Given the description of an element on the screen output the (x, y) to click on. 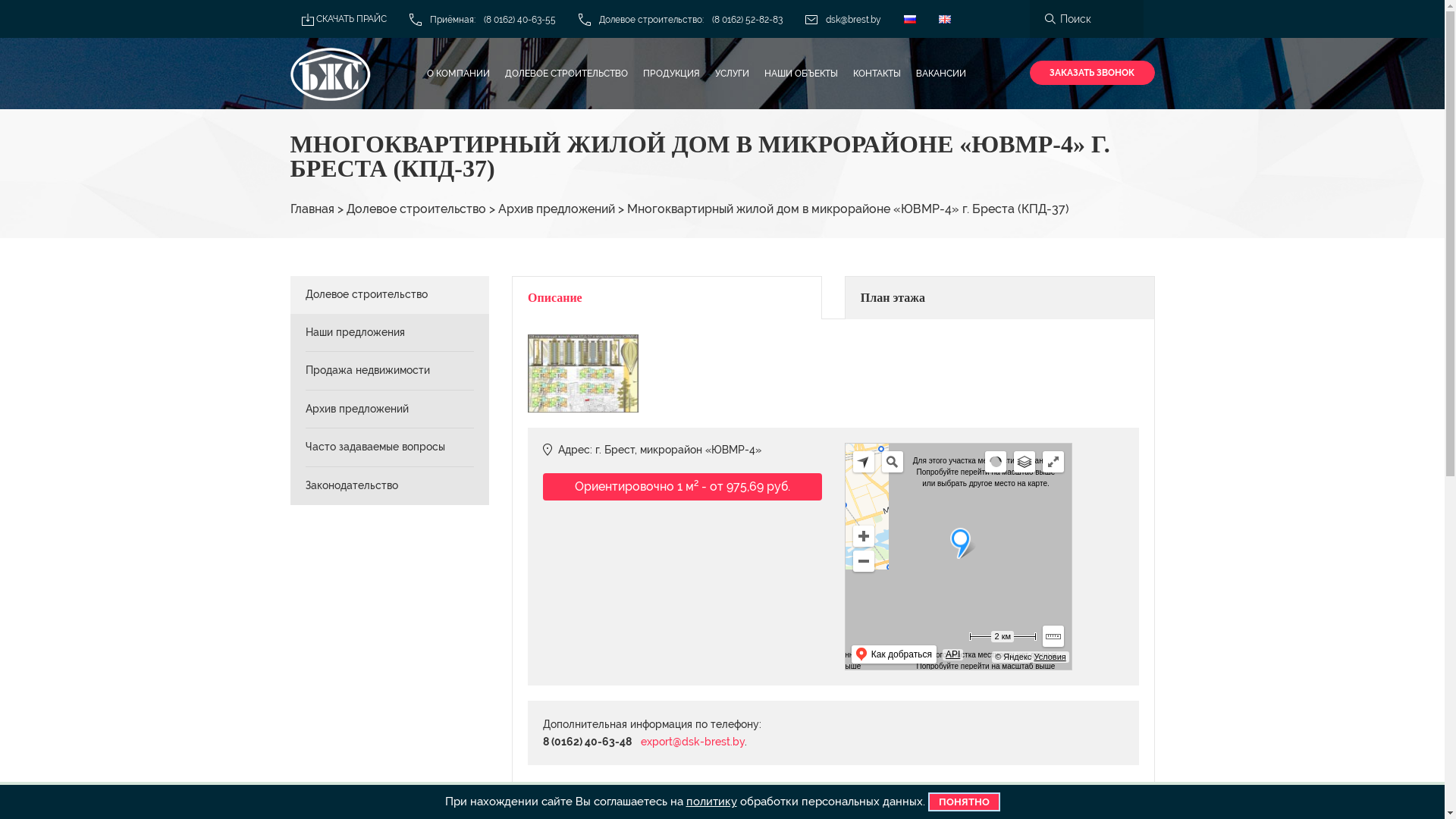
dsk@brest.by Element type: text (842, 18)
API Element type: text (952, 654)
export@dsk-brest.by Element type: text (692, 741)
